Given the description of an element on the screen output the (x, y) to click on. 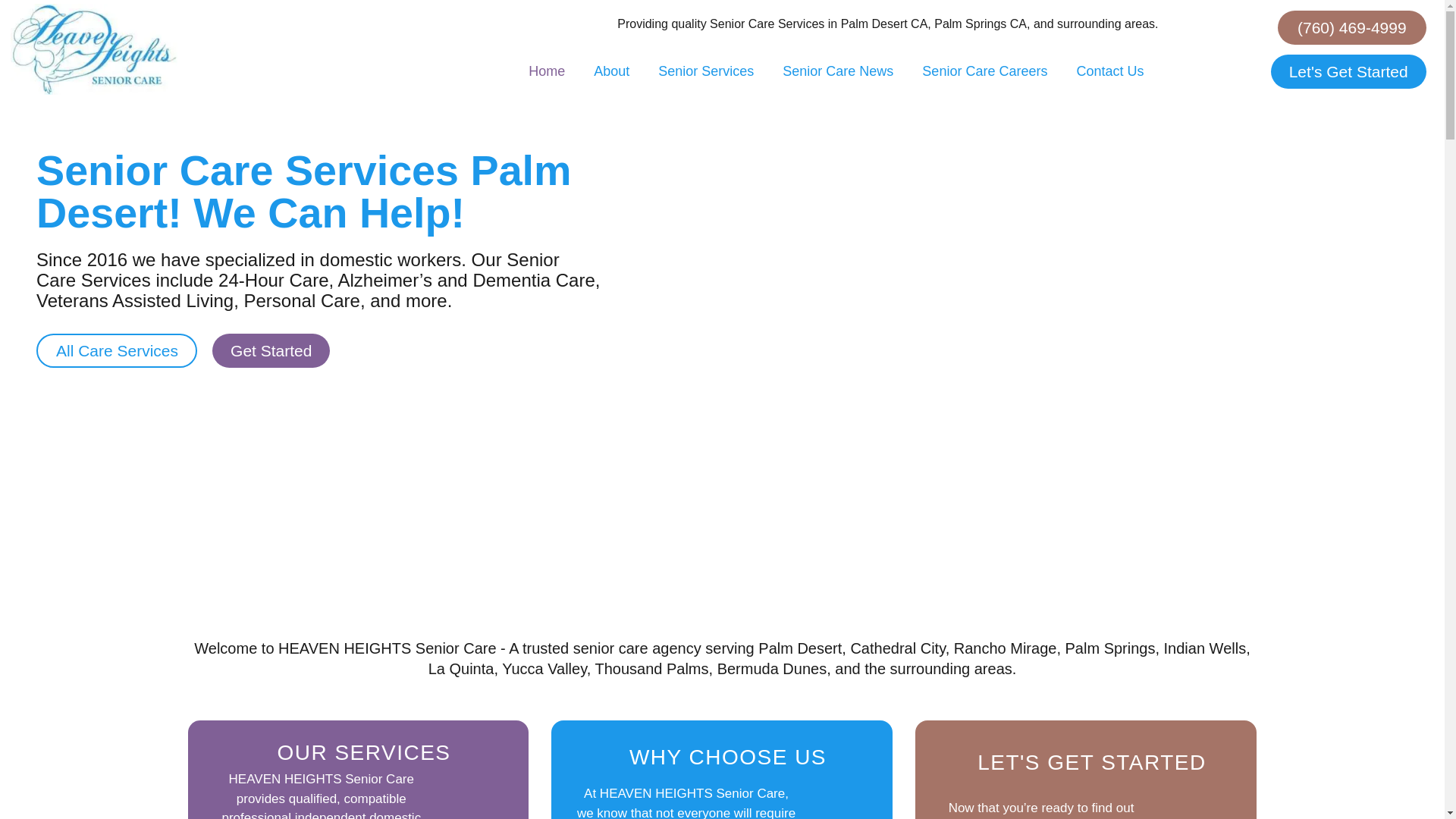
Contact Us (1109, 70)
Let's Get Started (1348, 71)
Senior Services (705, 70)
About (611, 70)
Get Started (271, 350)
Home (546, 70)
All Care Services (116, 350)
Senior Care Careers (984, 70)
Senior Care News (837, 70)
